Given the description of an element on the screen output the (x, y) to click on. 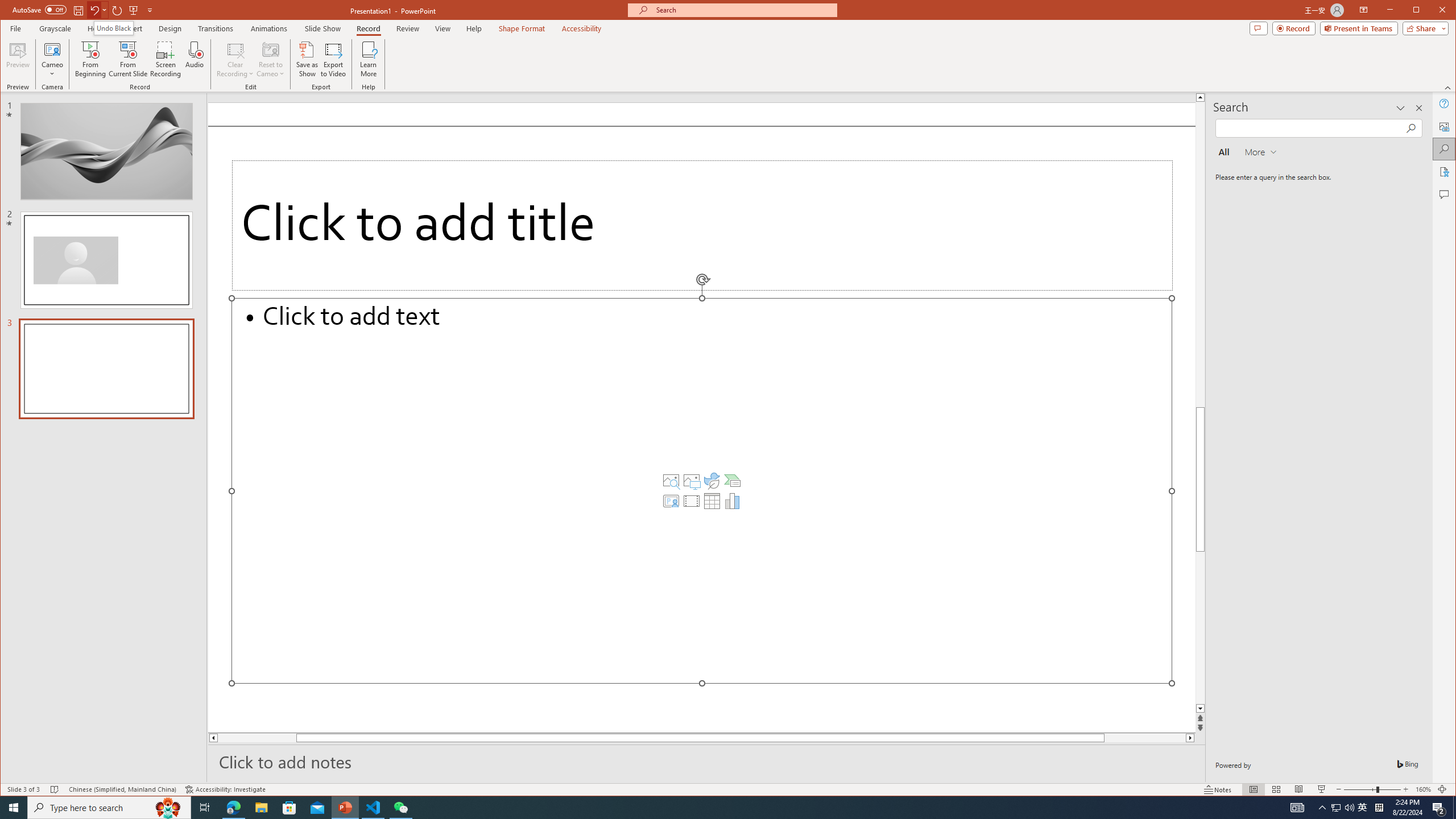
From Current Slide... (127, 59)
PowerPoint - 1 running window (345, 807)
Slide (106, 368)
Microsoft Store (289, 807)
Notification Chevron (1322, 807)
Cameo (52, 48)
Audio (194, 59)
Save as Show (307, 59)
Type here to search (108, 807)
Pictures (691, 480)
Task View (204, 807)
